Given the description of an element on the screen output the (x, y) to click on. 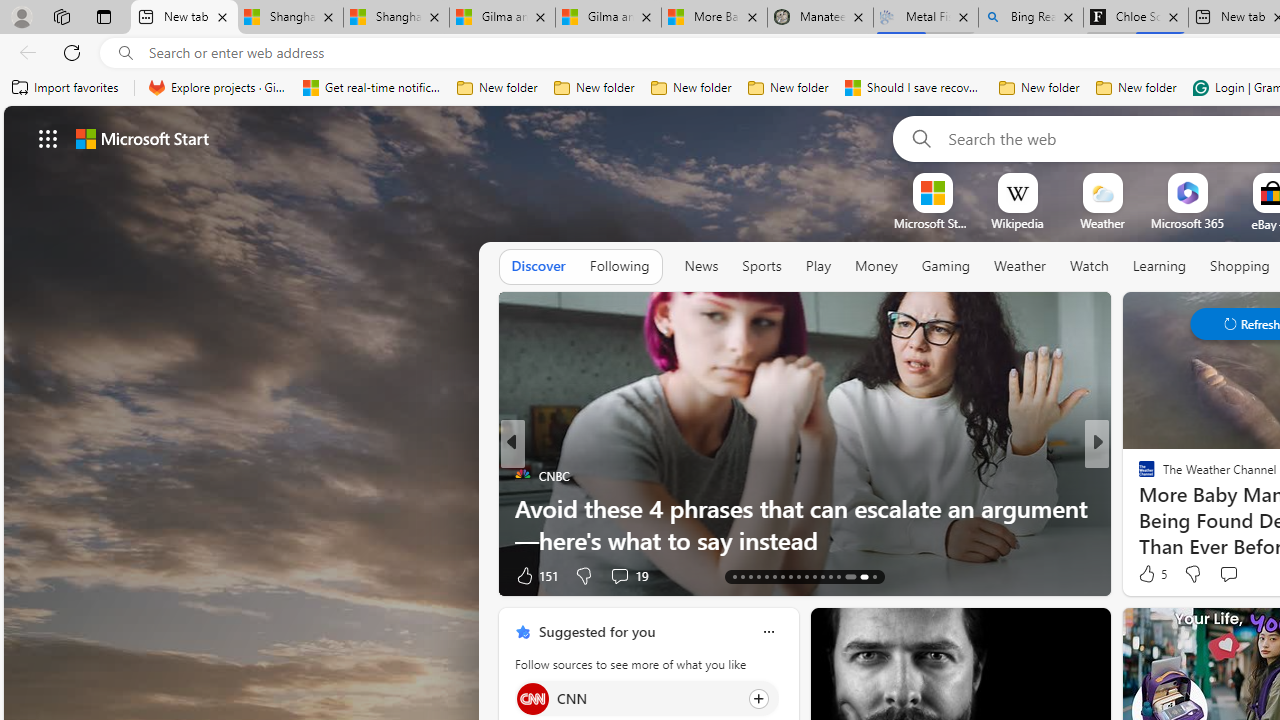
AutomationID: tab-41 (859, 576)
View comments 1 Comment (1234, 574)
AutomationID: tab-22 (806, 576)
Wikipedia (1017, 223)
Gaming (945, 265)
5 Like (1151, 574)
More options (768, 631)
151 Like (535, 574)
Learning (1159, 265)
Hide this story (1050, 632)
